Given the description of an element on the screen output the (x, y) to click on. 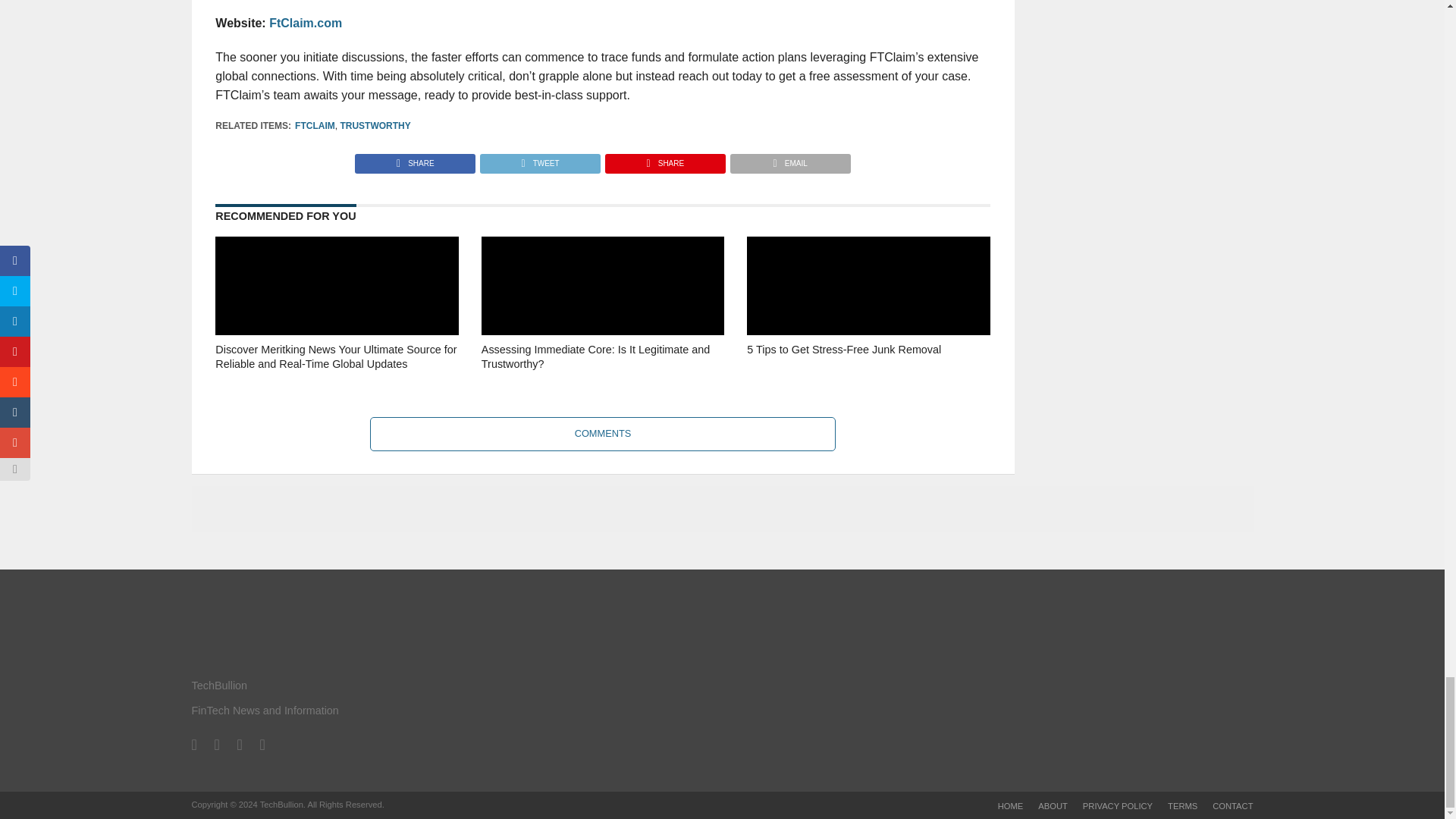
Share on Facebook (415, 159)
Assessing Immediate Core: Is It Legitimate and Trustworthy? (602, 377)
Tweet This Post (539, 159)
5 Tips to Get Stress-Free Junk Removal (868, 377)
Pin This Post (664, 159)
